Given the description of an element on the screen output the (x, y) to click on. 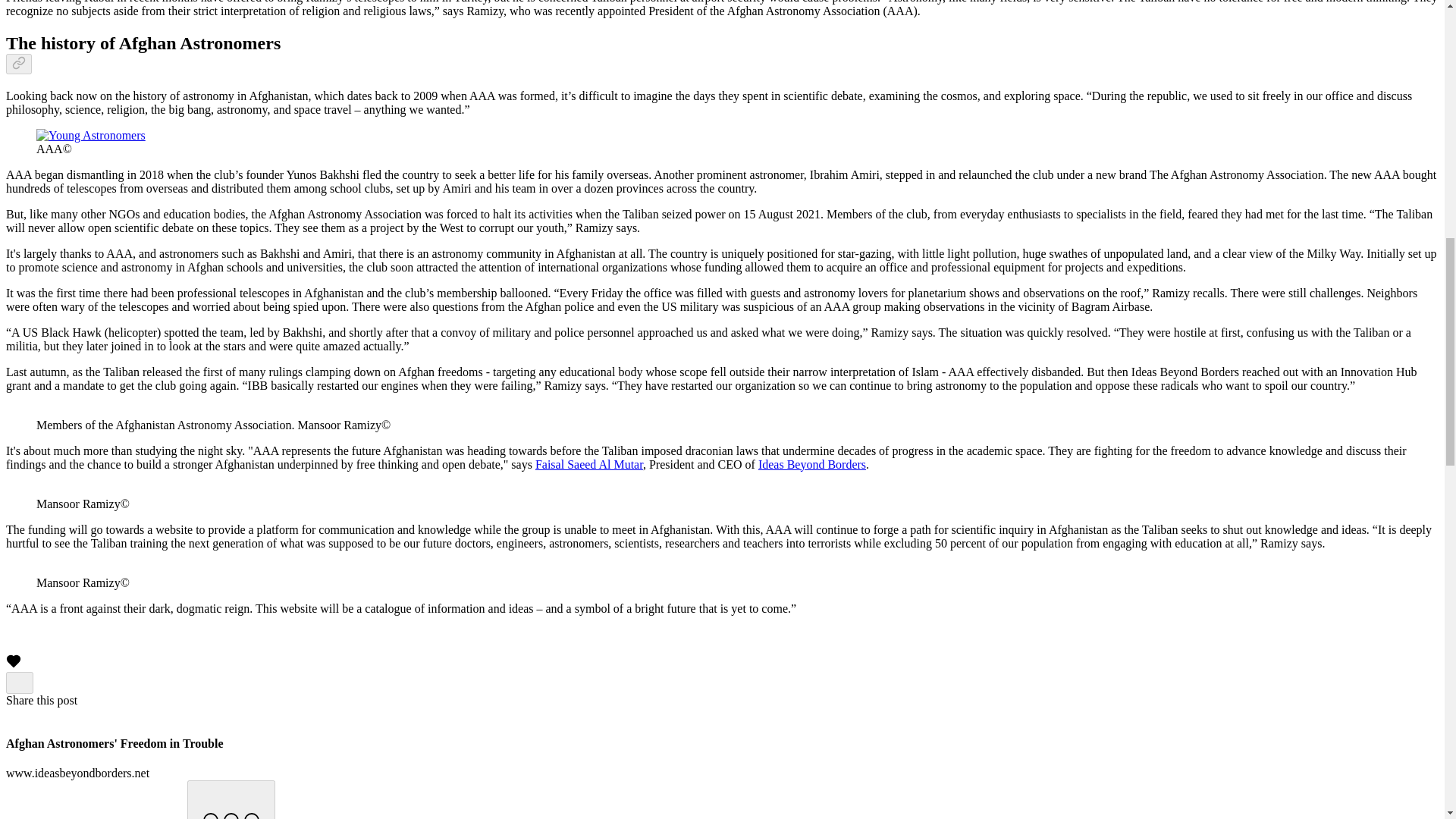
Ideas Beyond Borders (812, 463)
Faisal Saeed Al Mutar (589, 463)
Other (231, 799)
Young Astronomers (90, 135)
